Given the description of an element on the screen output the (x, y) to click on. 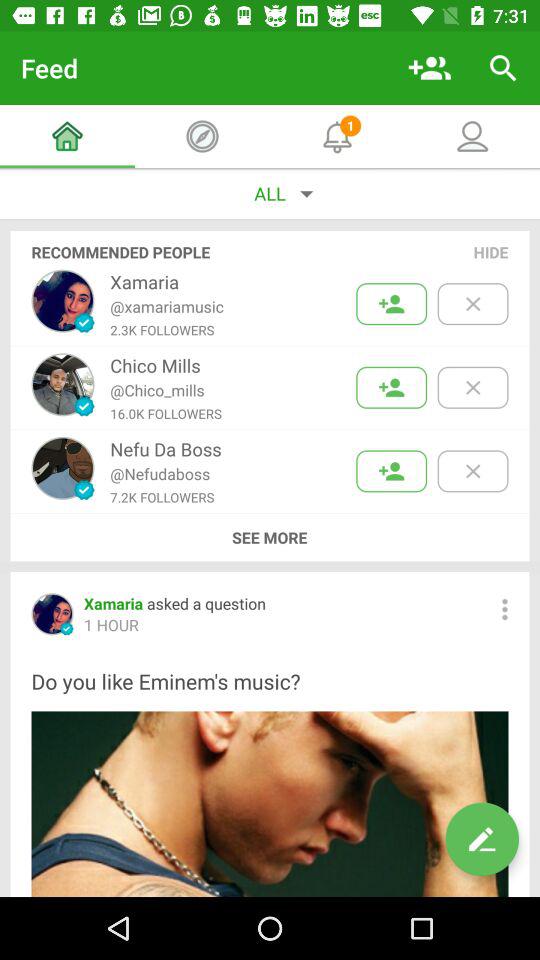
add person (391, 387)
